Given the description of an element on the screen output the (x, y) to click on. 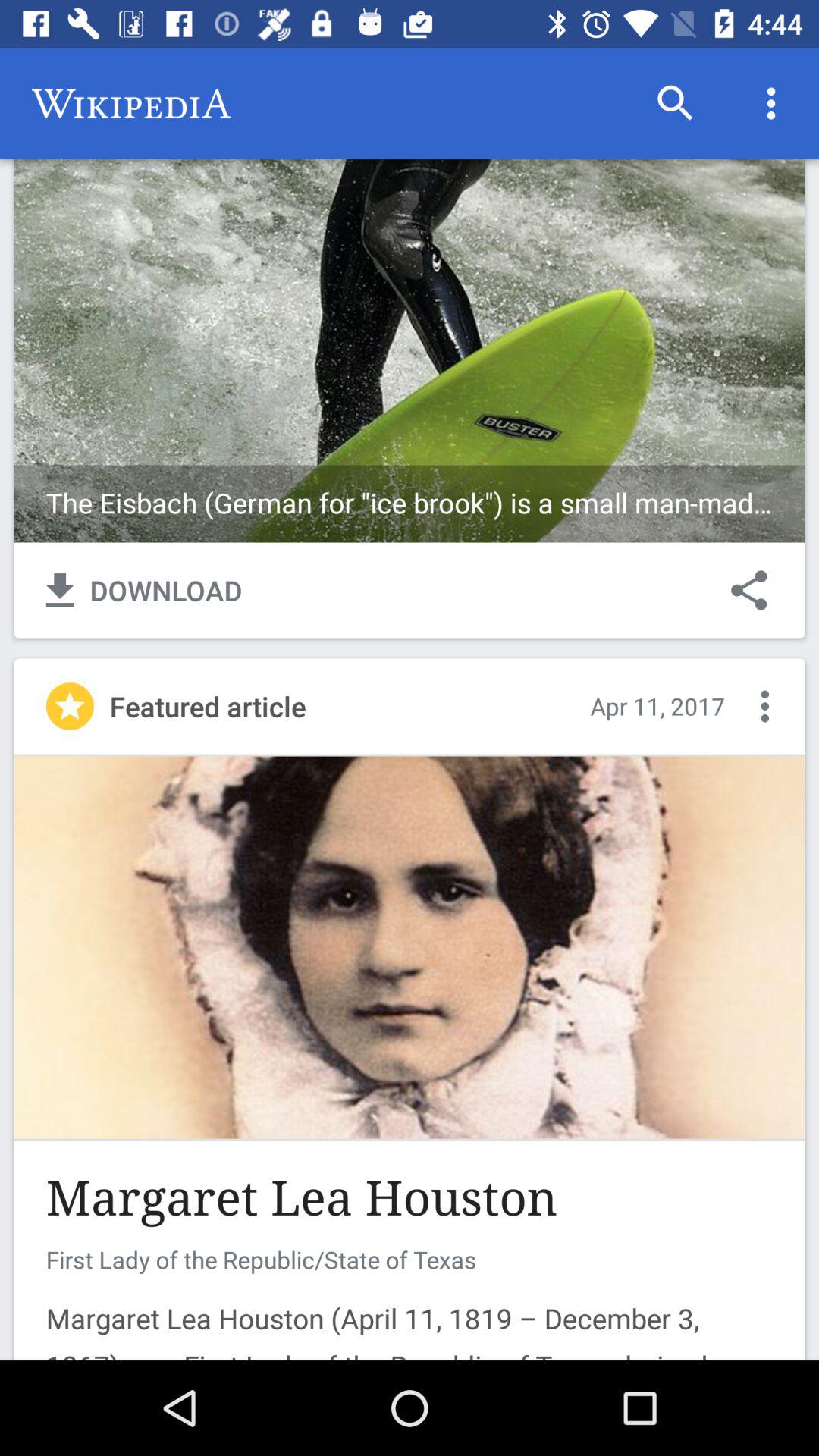
select icon above the the eisbach german icon (771, 103)
